Given the description of an element on the screen output the (x, y) to click on. 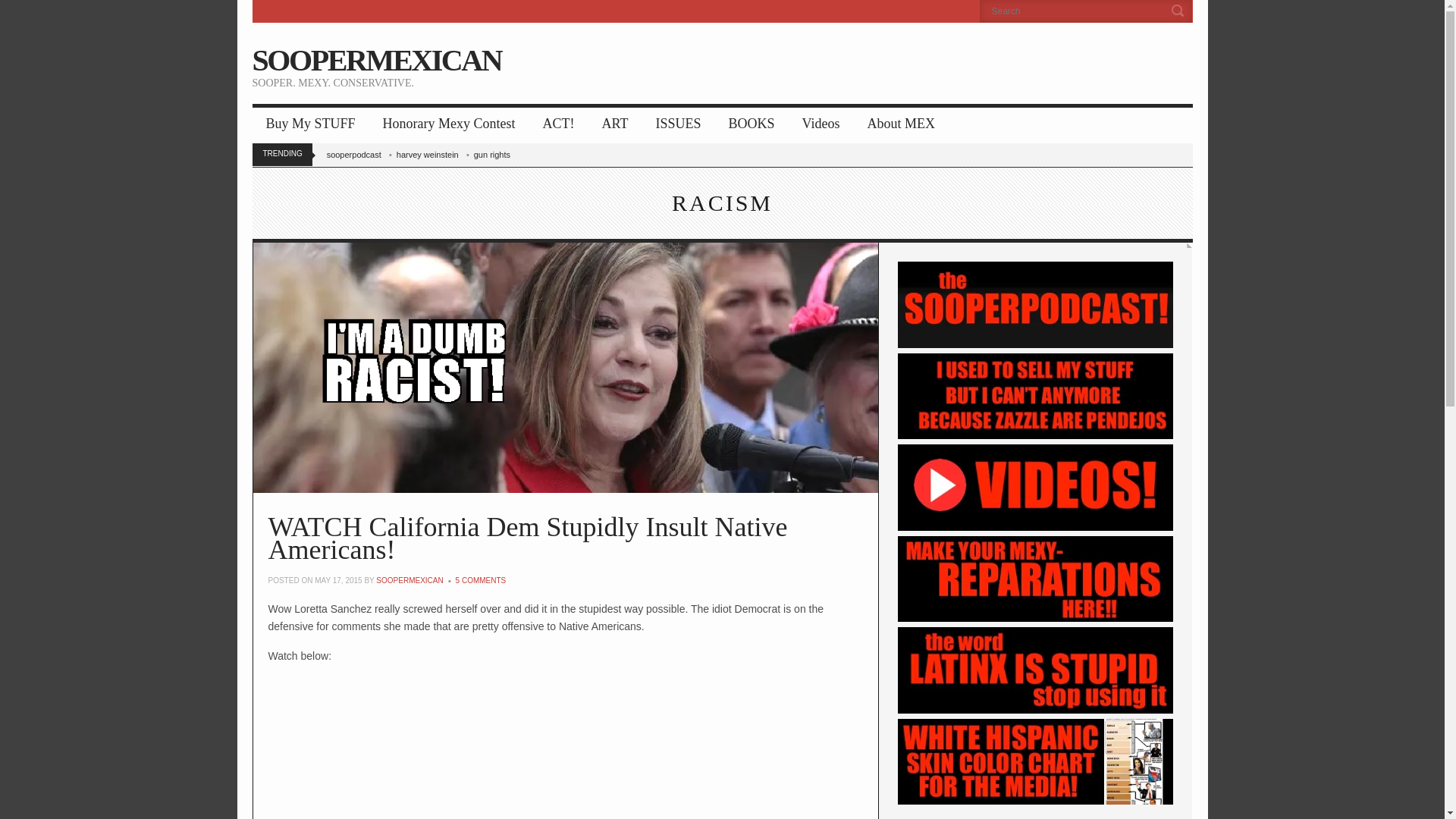
ART (615, 125)
SOOPERMEXICAN (408, 580)
sooperpodcast (359, 153)
Honorary Mexy Contest (449, 125)
gun rights (498, 153)
GO (1180, 11)
GO (1180, 11)
5 COMMENTS (480, 580)
ISSUES (678, 125)
harvey weinstein (433, 153)
SOOPERMEXICAN (375, 59)
BOOKS (750, 125)
About MEX (901, 125)
Buy My STUFF (309, 125)
GO (1180, 11)
